Given the description of an element on the screen output the (x, y) to click on. 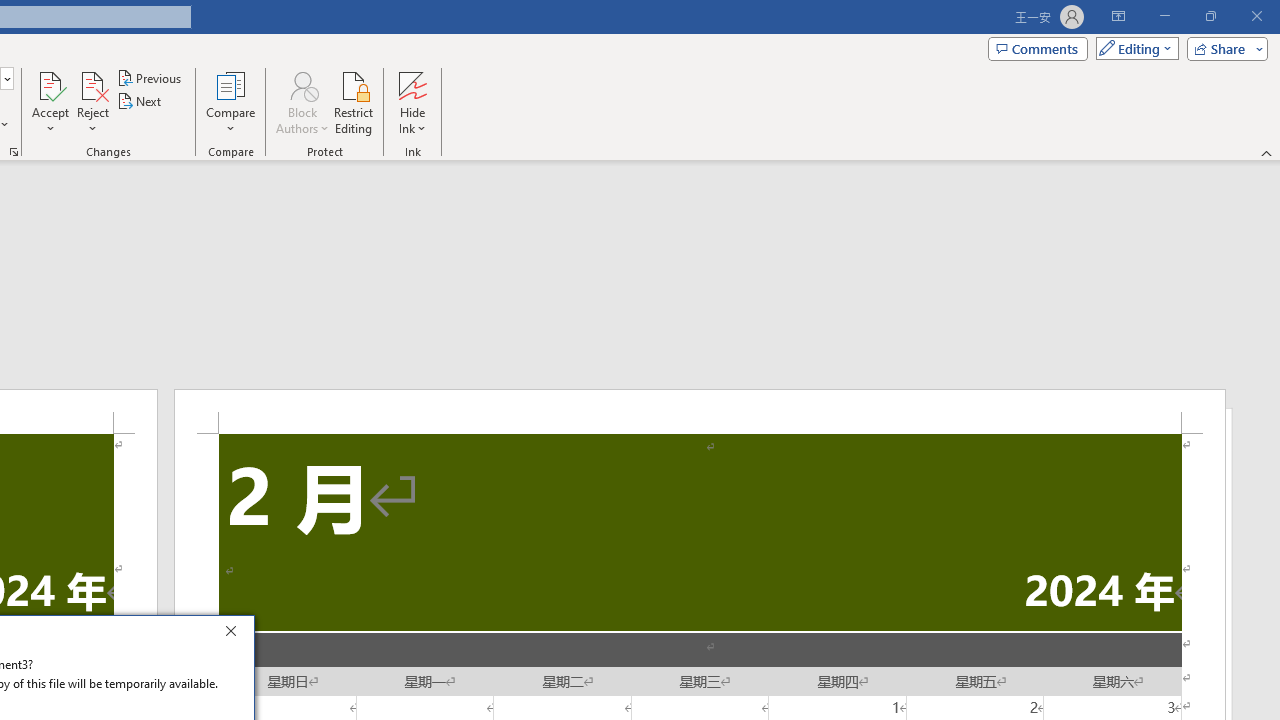
Reject and Move to Next (92, 84)
Block Authors (302, 102)
Reject (92, 102)
Block Authors (302, 84)
Hide Ink (412, 102)
Restrict Editing (353, 102)
